Given the description of an element on the screen output the (x, y) to click on. 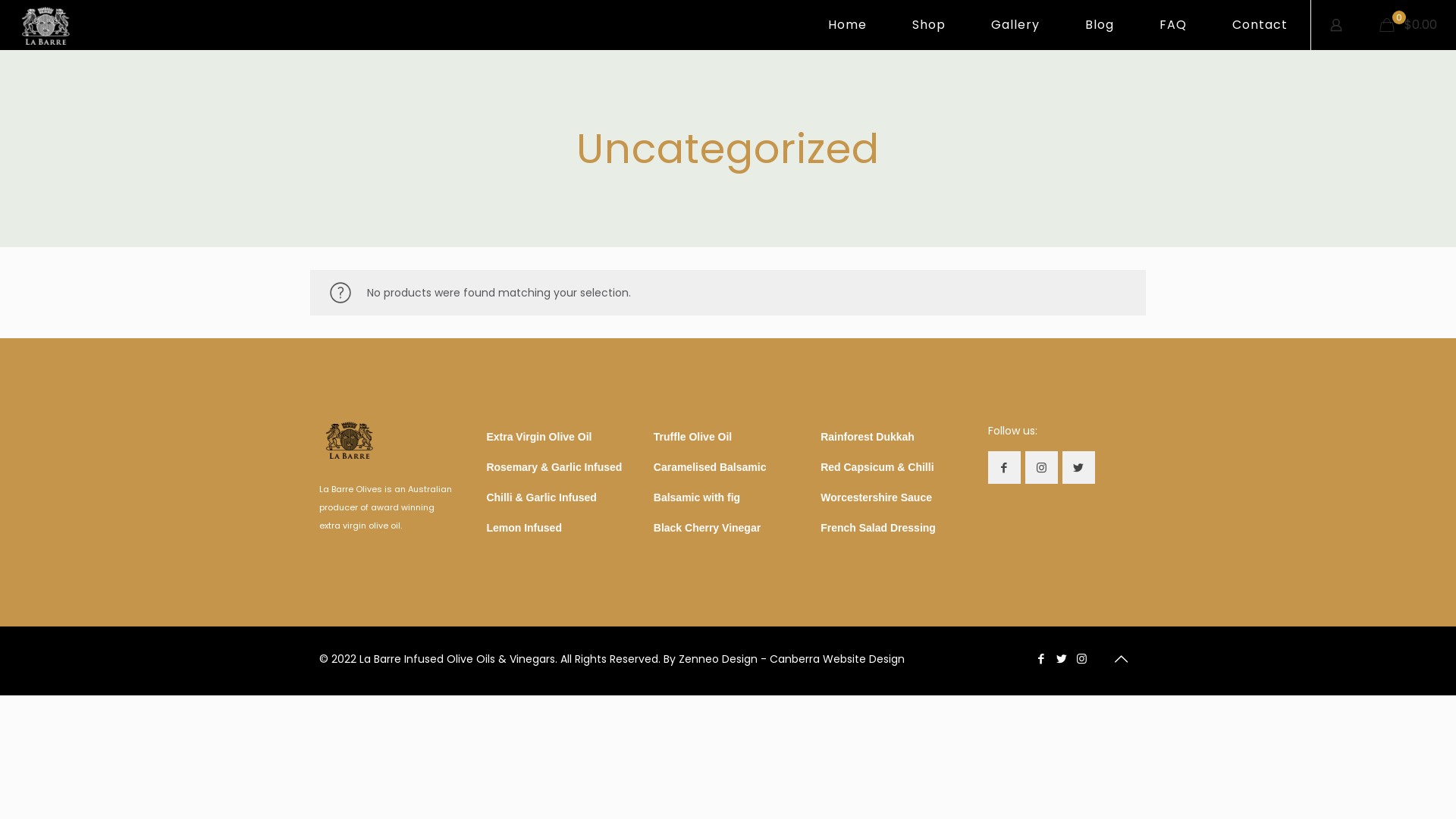
Lemon Infused Element type: text (523, 527)
Worcestershire Sauce Element type: text (875, 497)
Balsamic with fig Element type: text (696, 497)
Truffle Olive Oil Element type: text (692, 436)
Rosemary & Garlic Infused Element type: text (553, 467)
Twitter Element type: hover (1061, 658)
Zenneo Design Element type: text (717, 658)
Facebook Element type: hover (1040, 658)
La Barre Infused Olive Oils & Vinegars Element type: hover (45, 25)
Shop Element type: text (928, 25)
FAQ Element type: text (1172, 25)
Gallery Element type: text (1015, 25)
Red Capsicum & Chilli Element type: text (876, 467)
Extra Virgin Olive Oil Element type: text (538, 436)
Contact Element type: text (1259, 25)
Home Element type: text (847, 25)
Black Cherry Vinegar Element type: text (706, 527)
Rainforest Dukkah Element type: text (867, 436)
Instagram Element type: hover (1081, 658)
Chilli & Garlic Infused Element type: text (541, 497)
Caramelised Balsamic Element type: text (709, 467)
Blog Element type: text (1099, 25)
- Canberra Website Design Element type: text (832, 658)
French Salad Dressing Element type: text (877, 527)
